Given the description of an element on the screen output the (x, y) to click on. 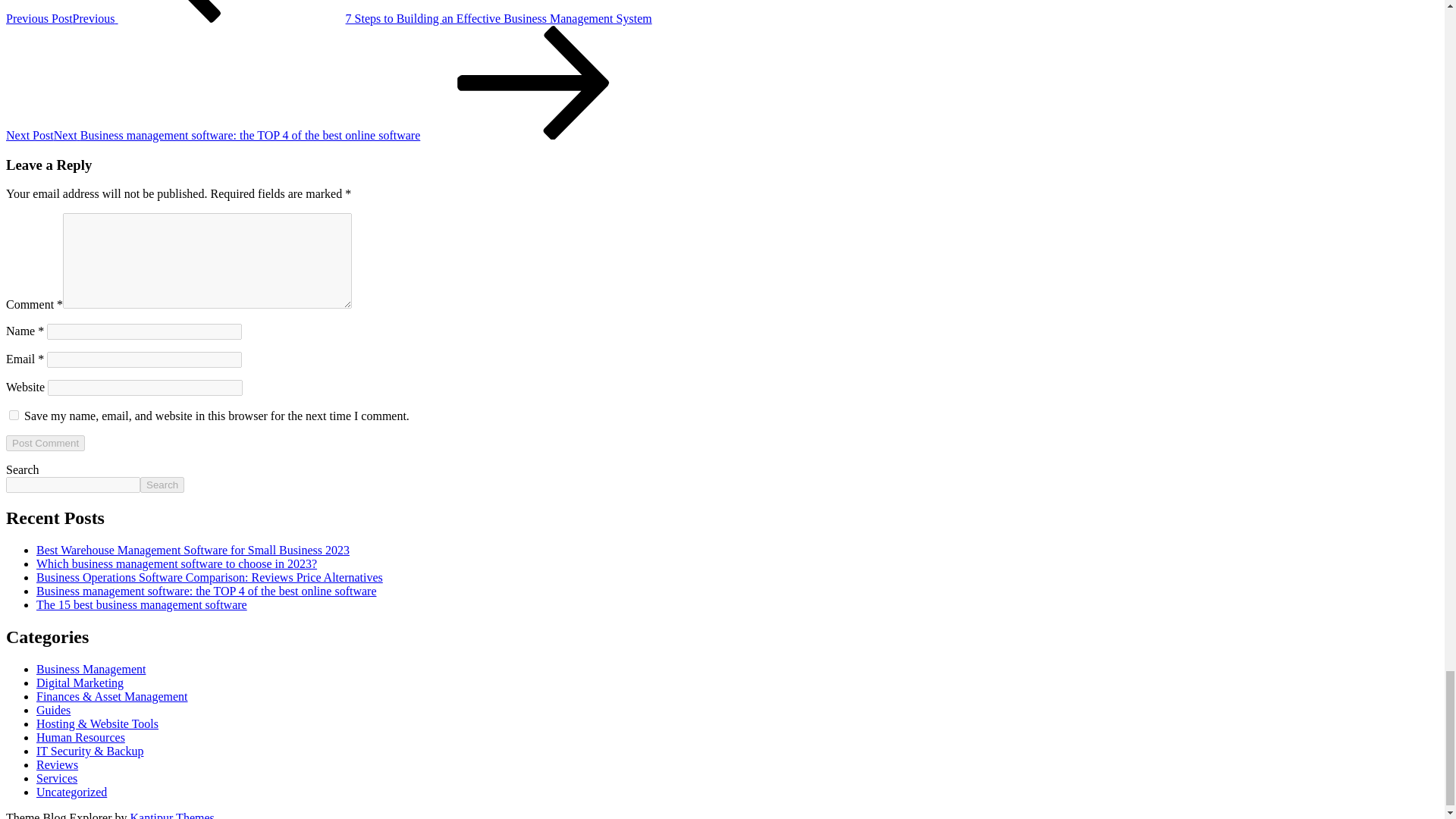
Best Warehouse Management Software for Small Business 2023 (192, 549)
Post Comment (44, 442)
Search (161, 484)
Which business management software to choose in 2023? (176, 563)
yes (13, 415)
Post Comment (44, 442)
